Given the description of an element on the screen output the (x, y) to click on. 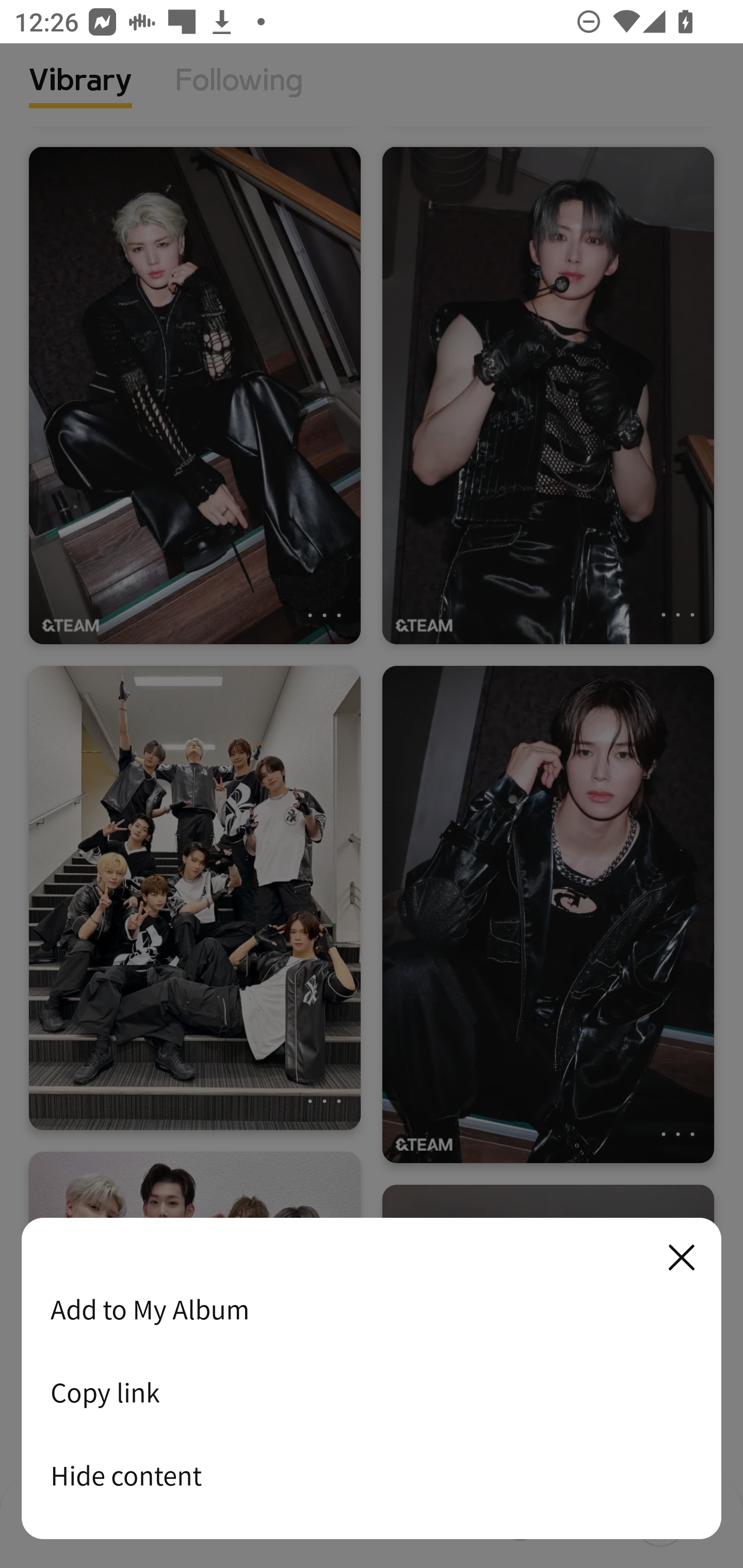
Add to My Album Copy link Hide content (371, 1378)
Add to My Album (371, 1308)
Copy link (371, 1391)
Hide content (371, 1474)
